Given the description of an element on the screen output the (x, y) to click on. 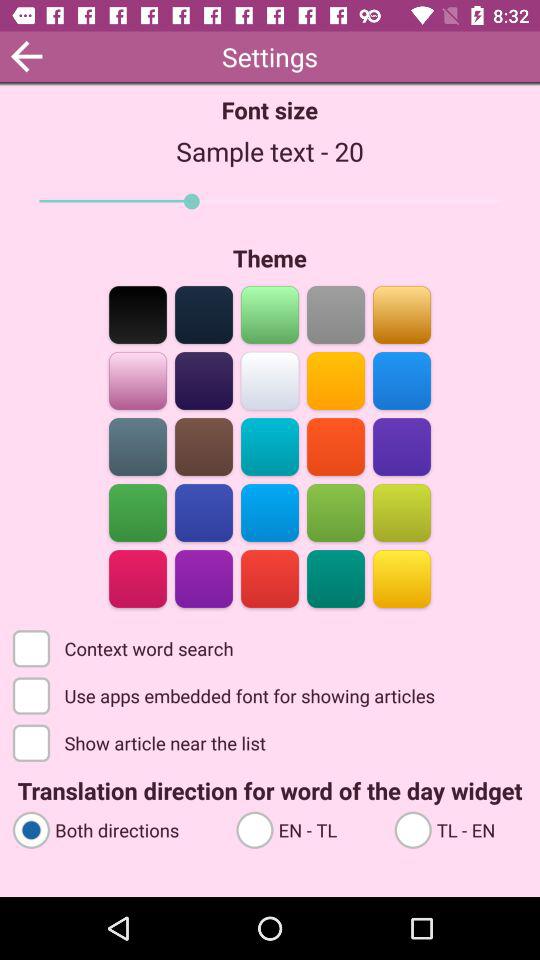
launch context word search (124, 647)
